Given the description of an element on the screen output the (x, y) to click on. 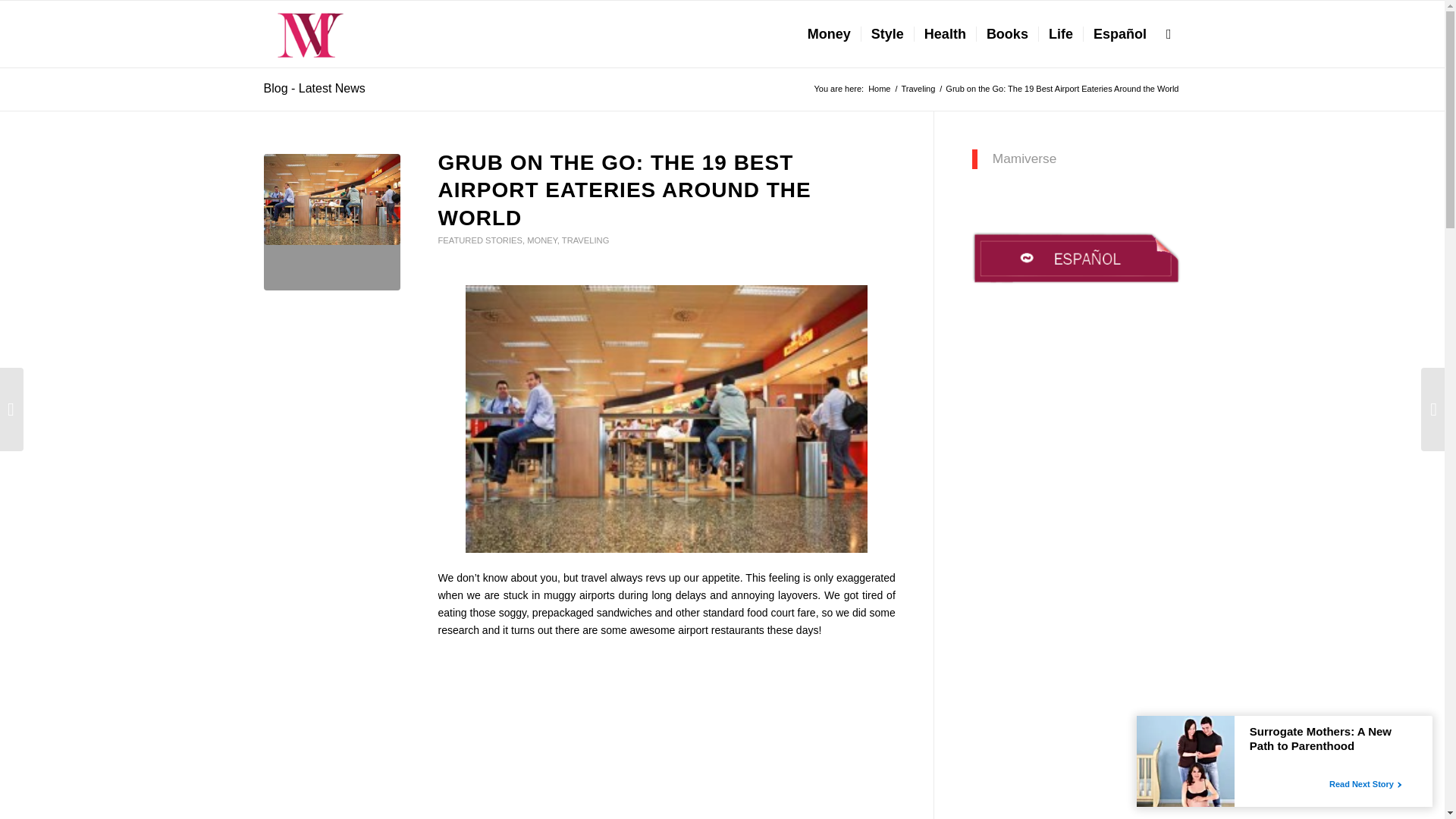
Permanent Link: Blog - Latest News (314, 88)
MONEY (542, 239)
Mamiverse (879, 89)
Books (1006, 33)
TRAVELING (586, 239)
FEATURED STORIES (480, 239)
Traveling (917, 89)
3rd party ad content (666, 733)
Blog - Latest News (314, 88)
Health (944, 33)
Home (879, 89)
Money (828, 33)
